Given the description of an element on the screen output the (x, y) to click on. 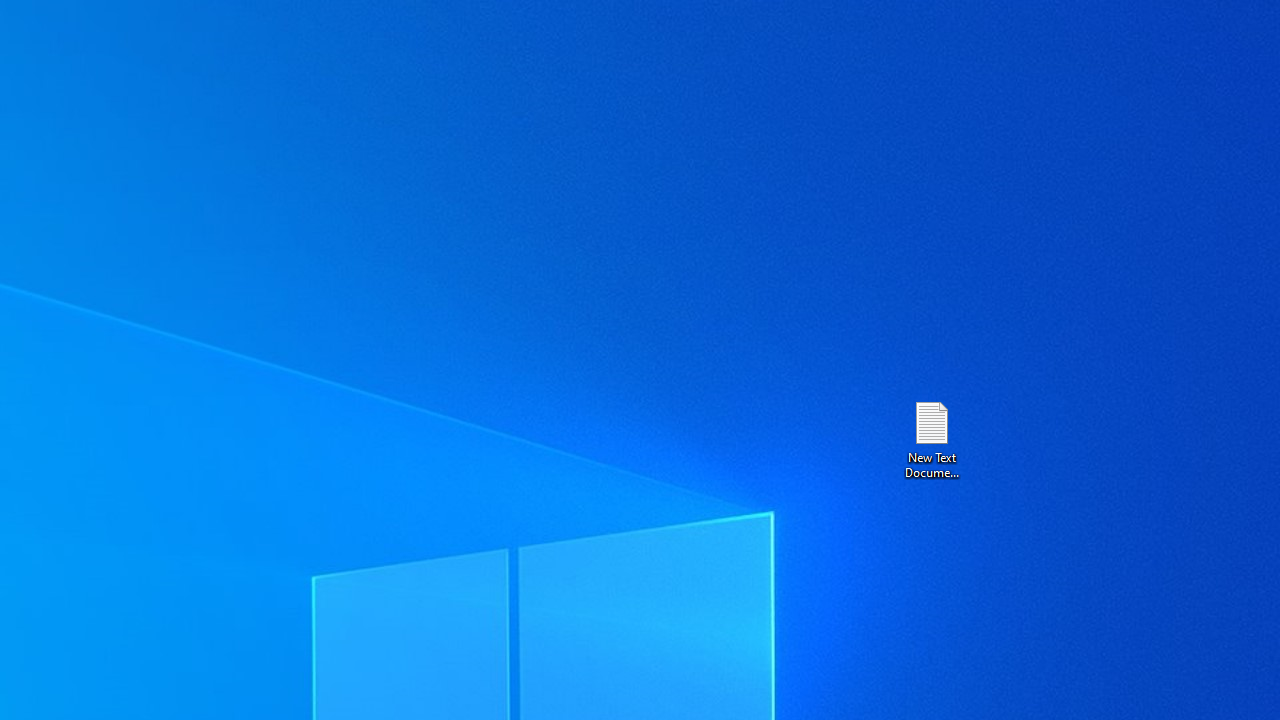
New Text Document (2) (931, 438)
